Given the description of an element on the screen output the (x, y) to click on. 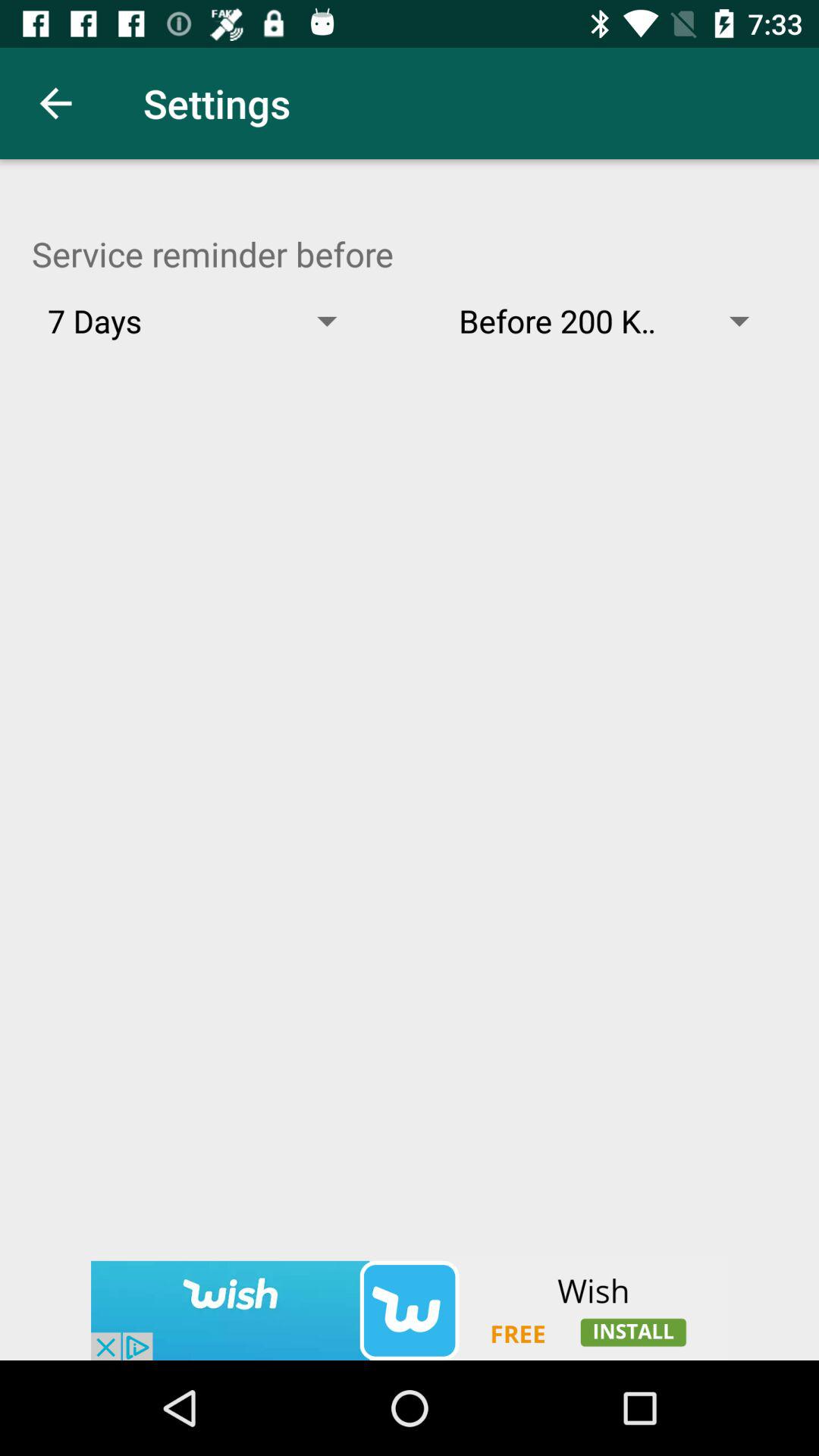
add banner (409, 1310)
